Given the description of an element on the screen output the (x, y) to click on. 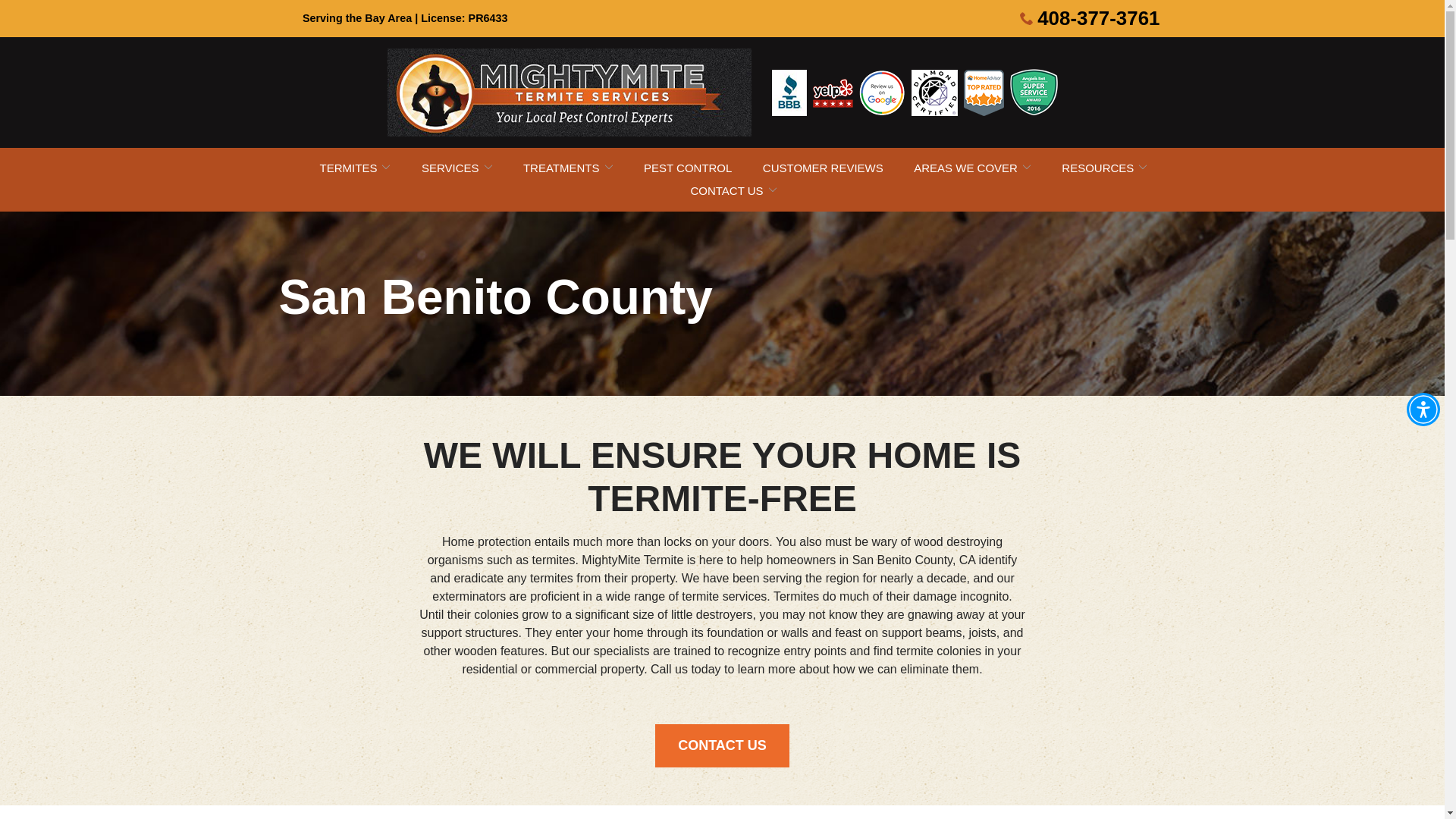
408-377-3761 (1089, 18)
Accessibility Menu (1422, 409)
